Given the description of an element on the screen output the (x, y) to click on. 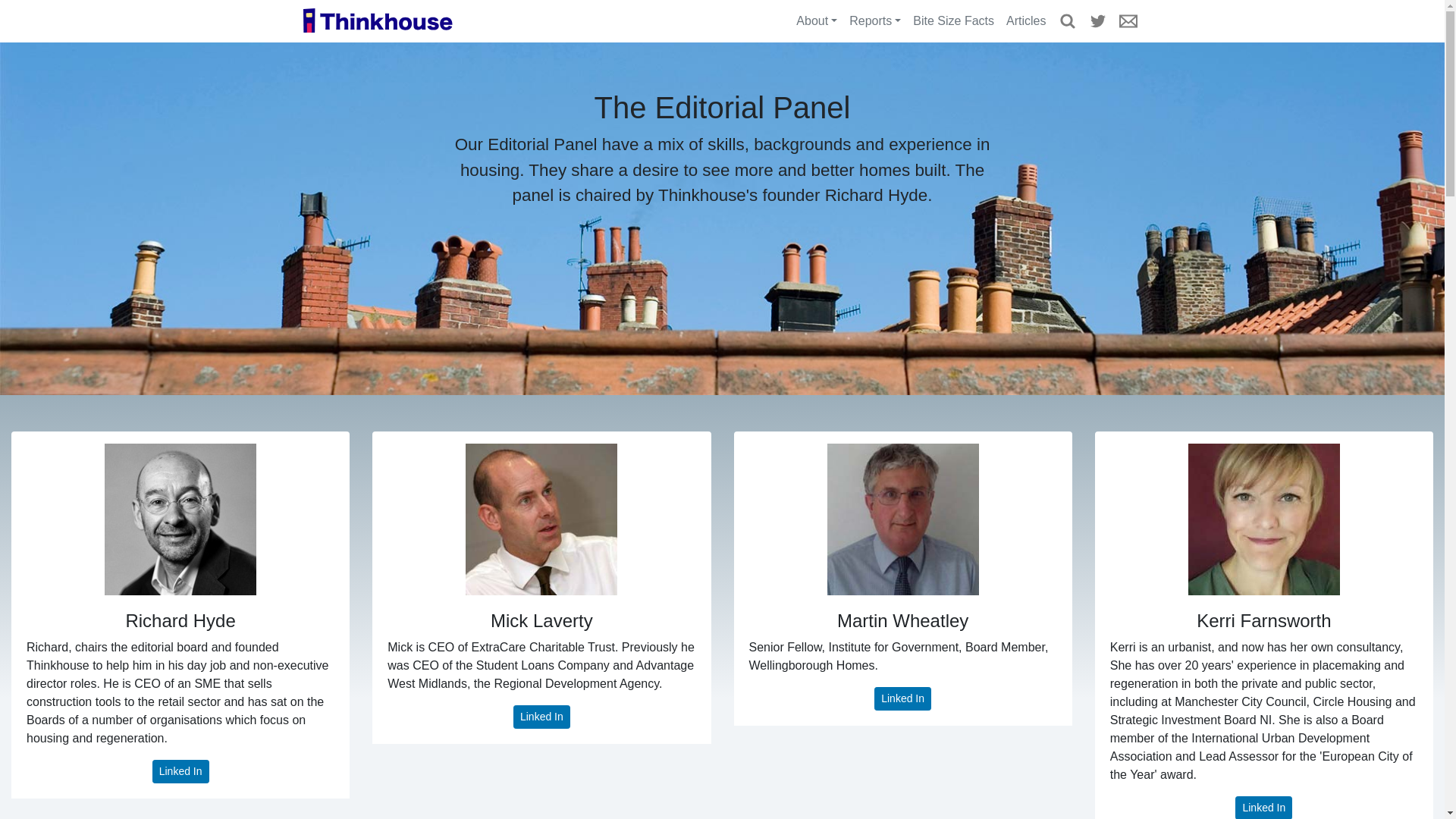
Linked In (180, 771)
Email Us (1127, 20)
Linked In (541, 716)
Articles (1025, 20)
Twitter (1098, 20)
Search Reports (1067, 20)
Reports (875, 20)
Bite Size Facts (953, 20)
Linked In (903, 698)
About (816, 20)
Thinkhouse (376, 21)
Linked In (1263, 807)
